Given the description of an element on the screen output the (x, y) to click on. 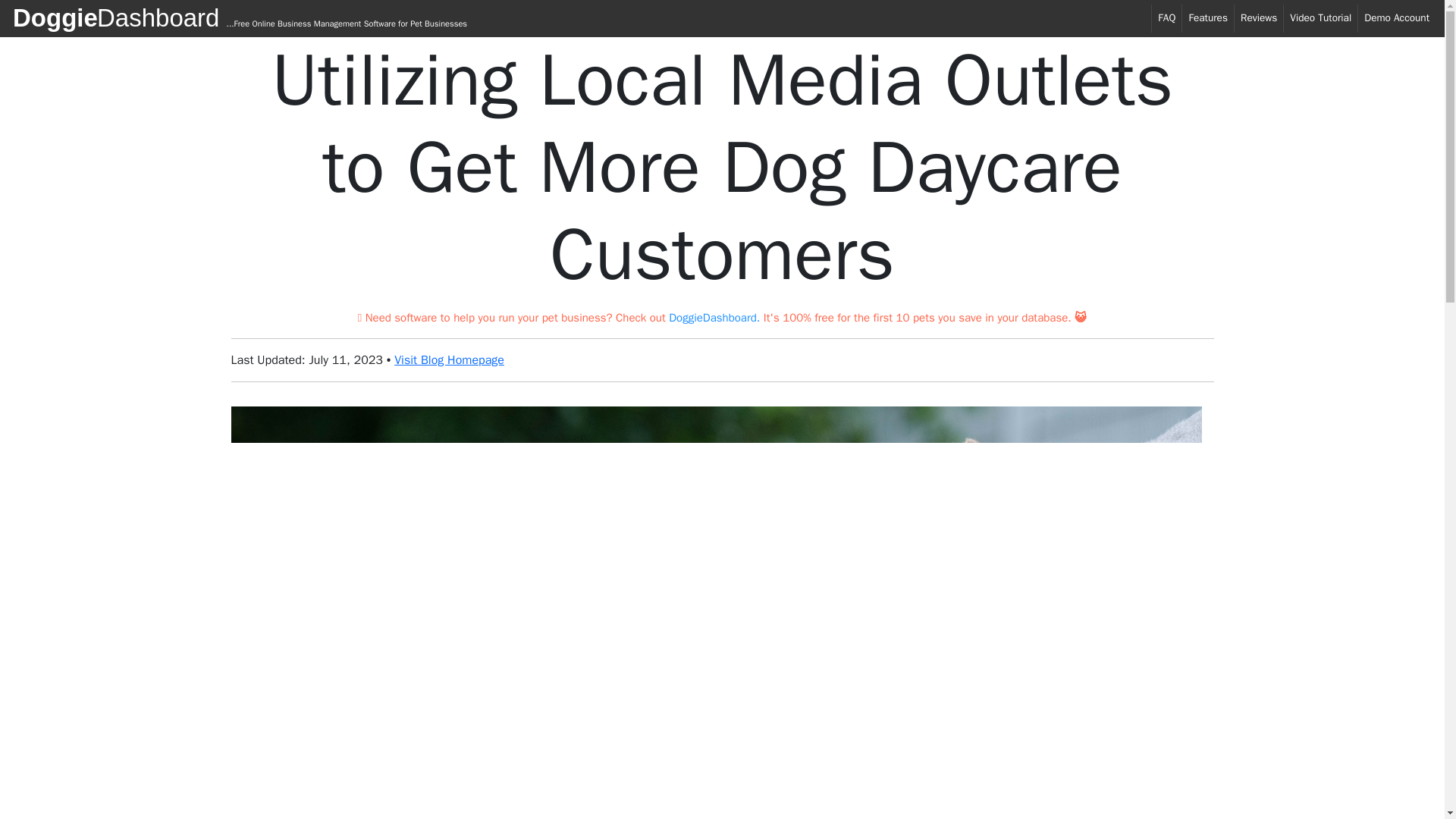
Video Tutorial (1320, 17)
FAQ (1165, 17)
Visit Blog Homepage (448, 359)
Features (1207, 17)
Demo Account (1396, 17)
Reviews (1258, 17)
